Given the description of an element on the screen output the (x, y) to click on. 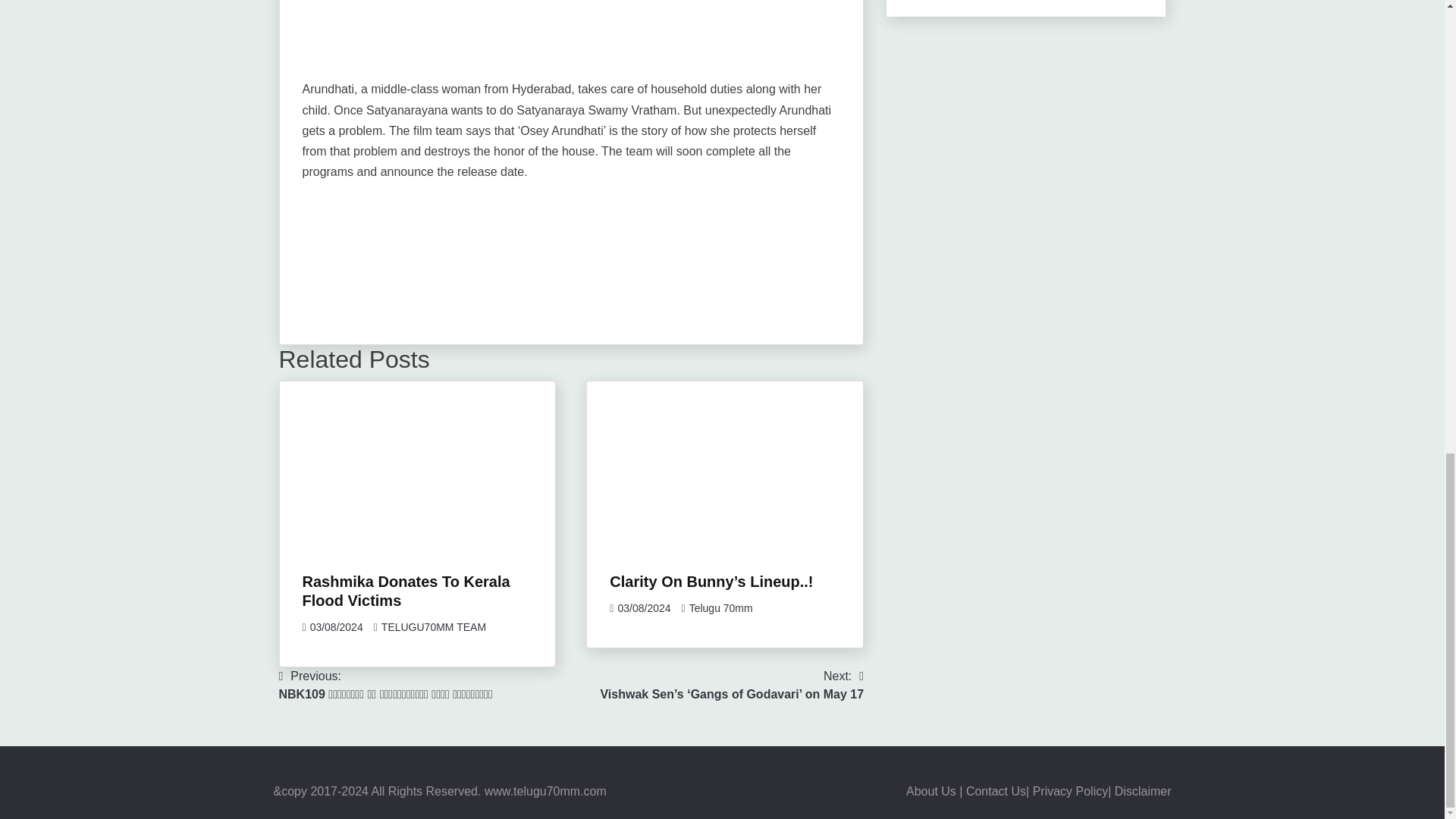
TELUGU70MM TEAM (433, 626)
Rashmika Donates To Kerala Flood Victims (405, 591)
Telugu 70mm (720, 607)
